Given the description of an element on the screen output the (x, y) to click on. 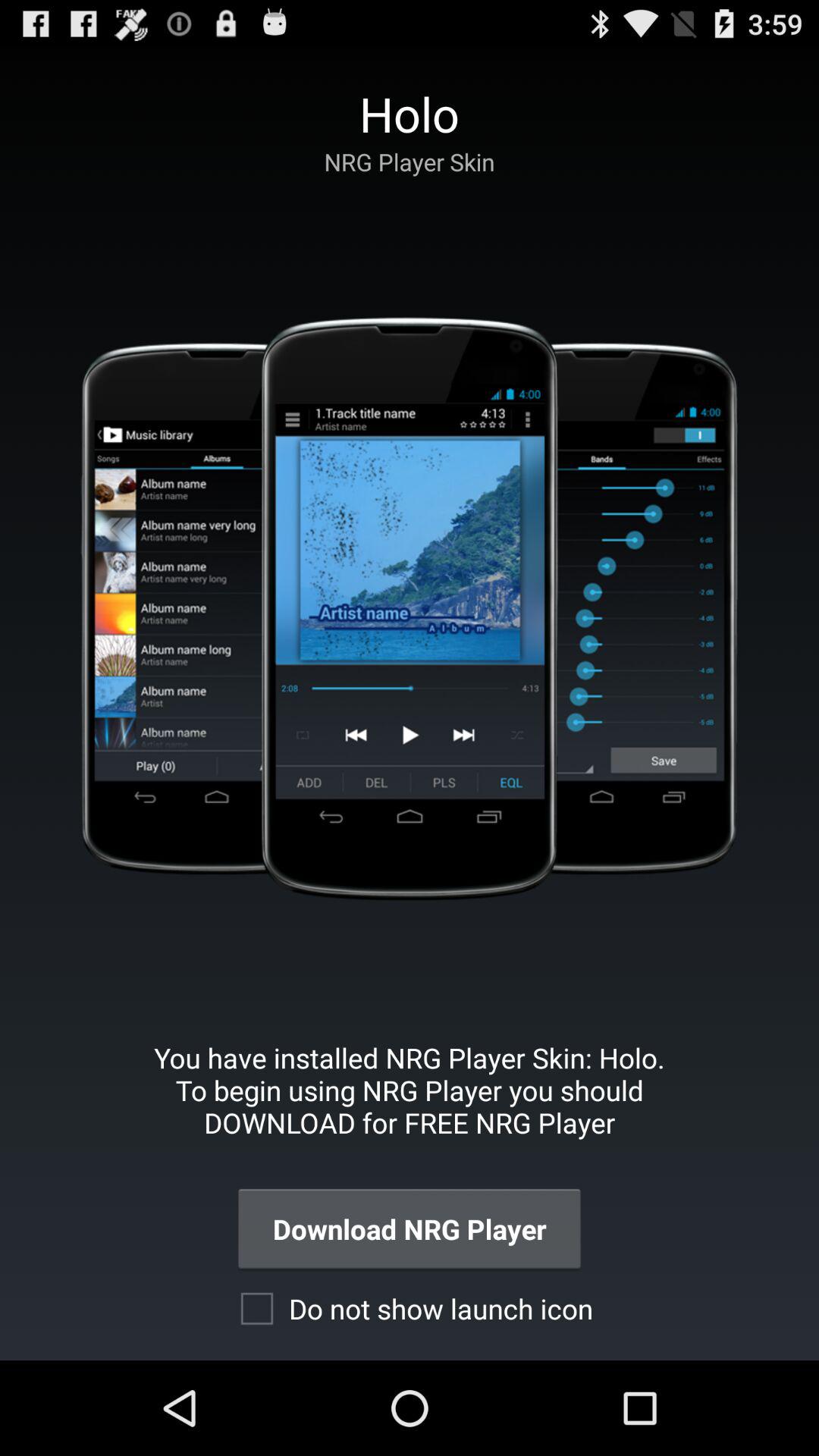
choose app below the nrg player skin icon (408, 608)
